Given the description of an element on the screen output the (x, y) to click on. 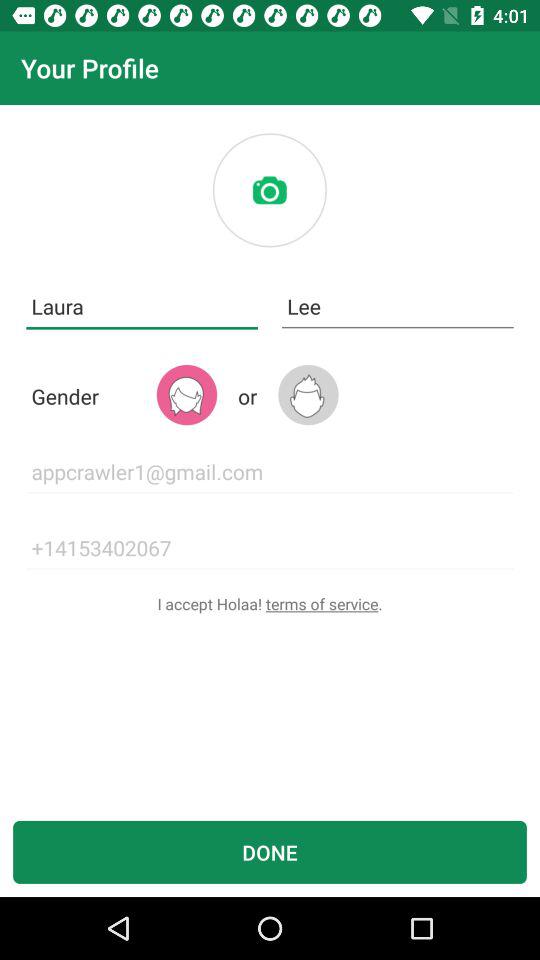
flip until appcrawler1@gmail.com item (270, 471)
